Given the description of an element on the screen output the (x, y) to click on. 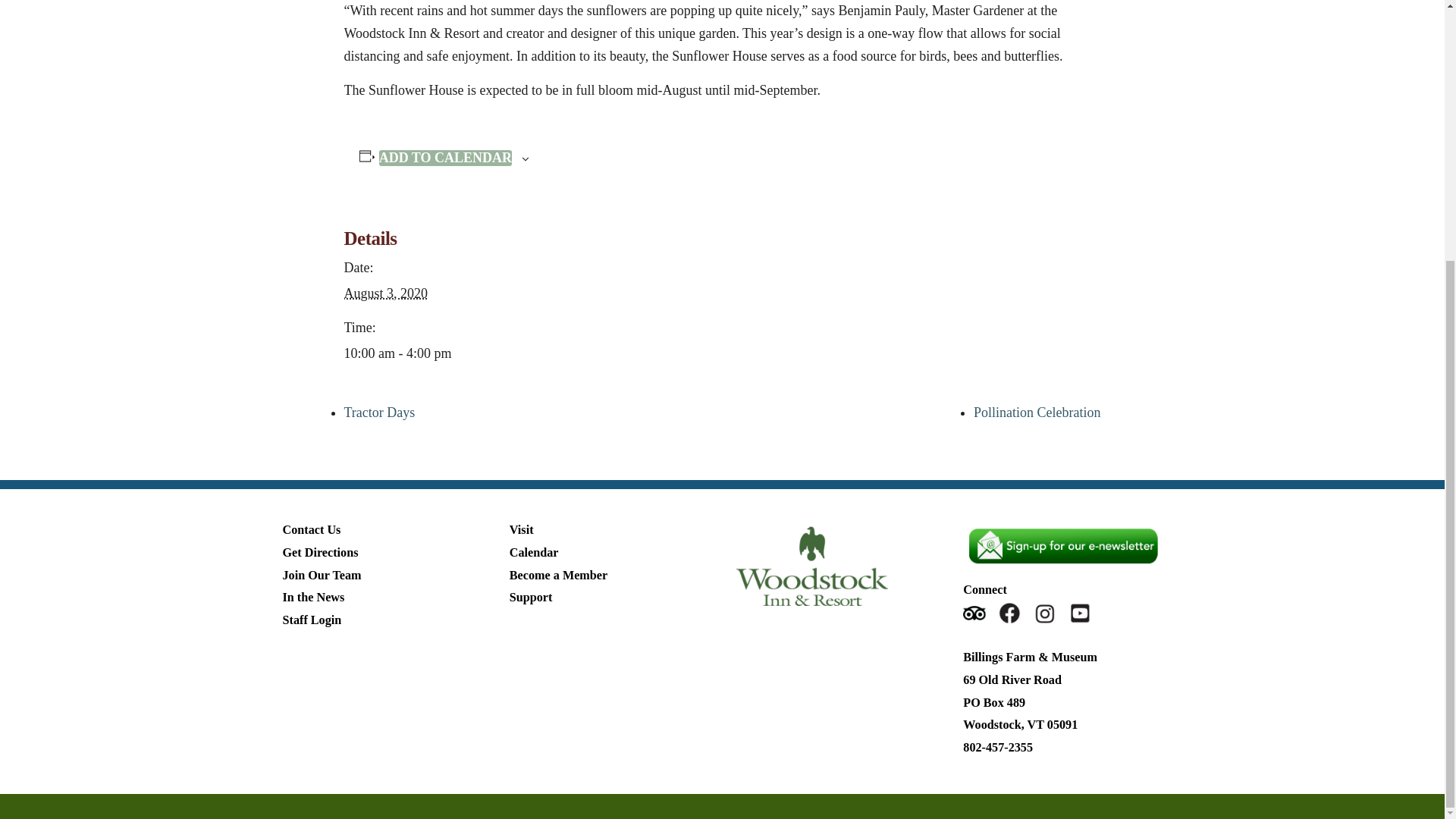
2020-08-03 (385, 293)
2020-08-03 (407, 354)
Tractor Days (378, 412)
Contact Us (311, 530)
ADD TO CALENDAR (445, 157)
Pollination Celebration (1037, 412)
